Given the description of an element on the screen output the (x, y) to click on. 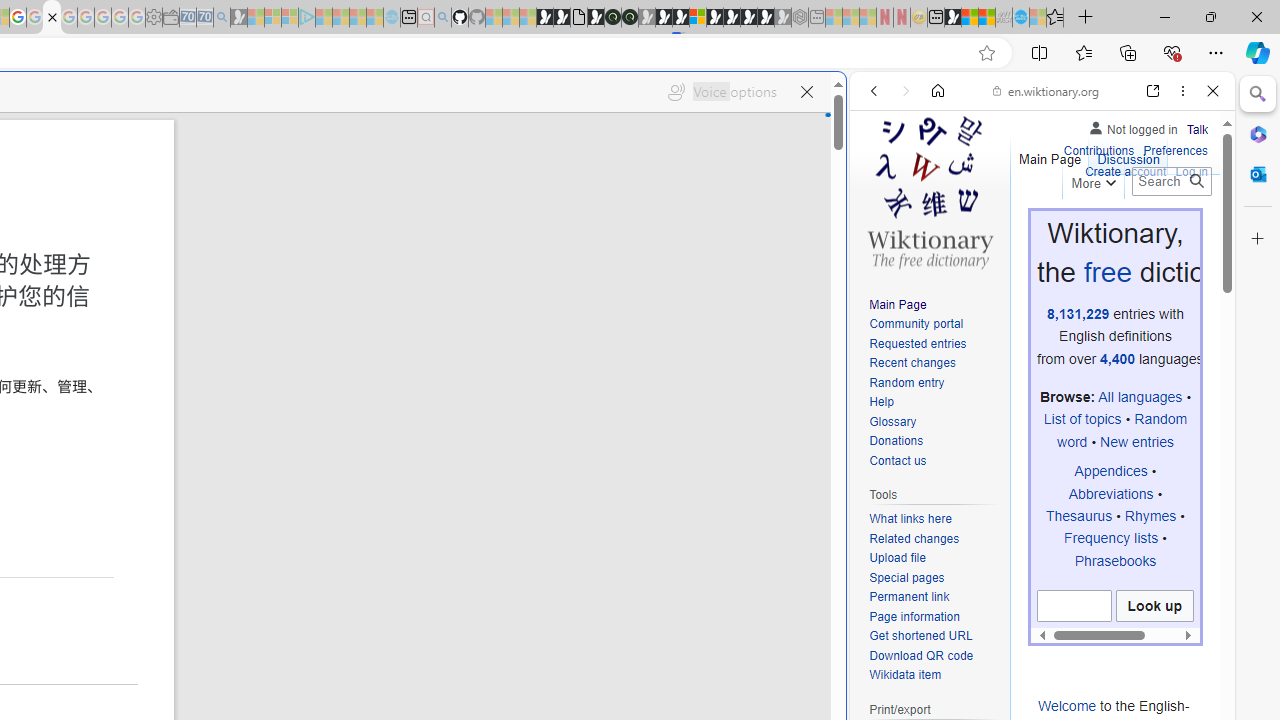
Class: b_serphb (1190, 229)
4,400 (1117, 358)
Upload file (897, 557)
Future Focus Report 2024 (629, 17)
Related changes (934, 539)
8,131,229 (1078, 313)
Search Filter, WEB (882, 228)
free (1106, 272)
Wikidata item (905, 675)
Log in (1191, 169)
